Given the description of an element on the screen output the (x, y) to click on. 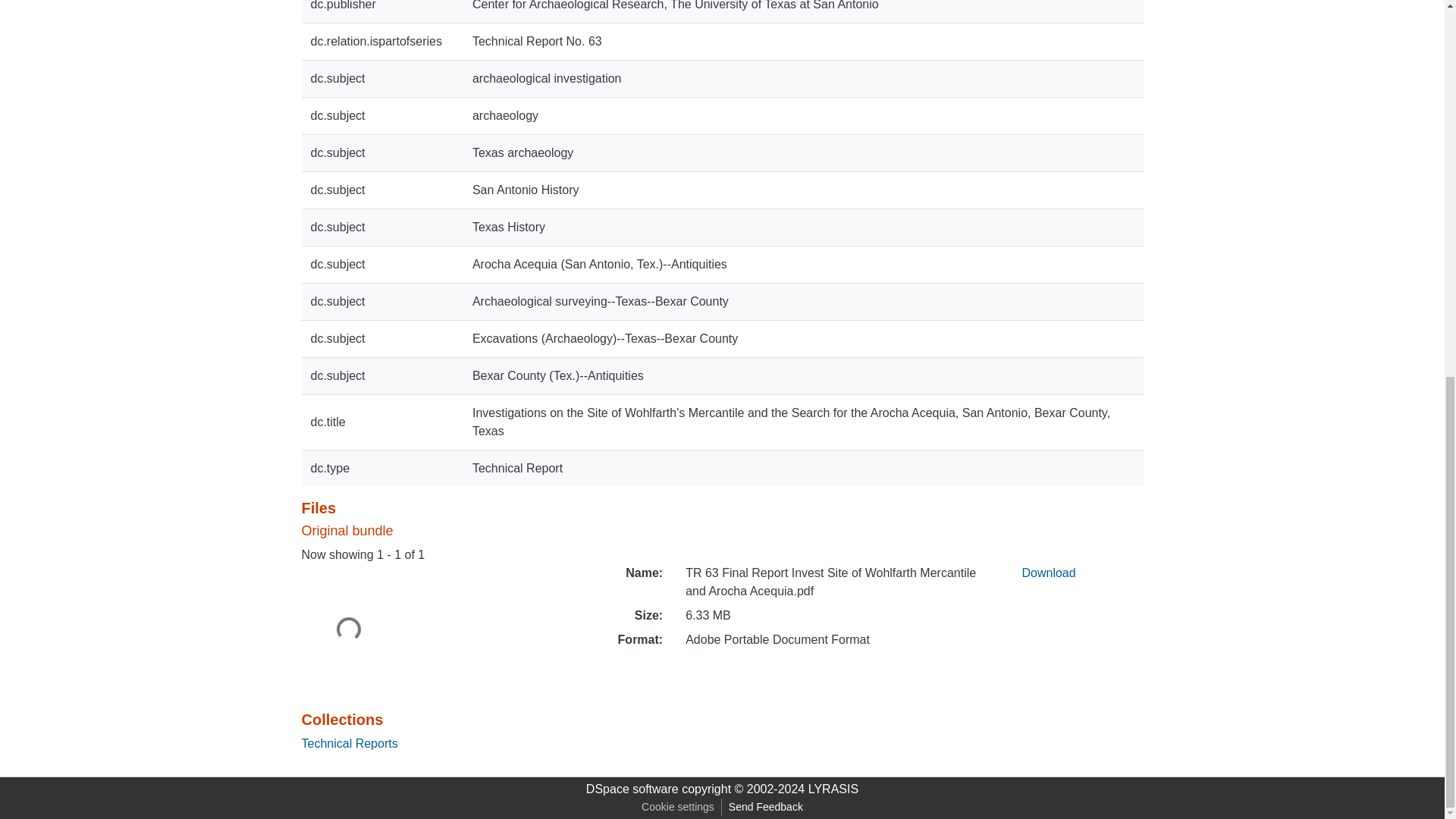
Send Feedback (765, 806)
Download (1048, 572)
Technical Reports (349, 743)
LYRASIS (833, 788)
DSpace software (632, 788)
Cookie settings (677, 806)
